Given the description of an element on the screen output the (x, y) to click on. 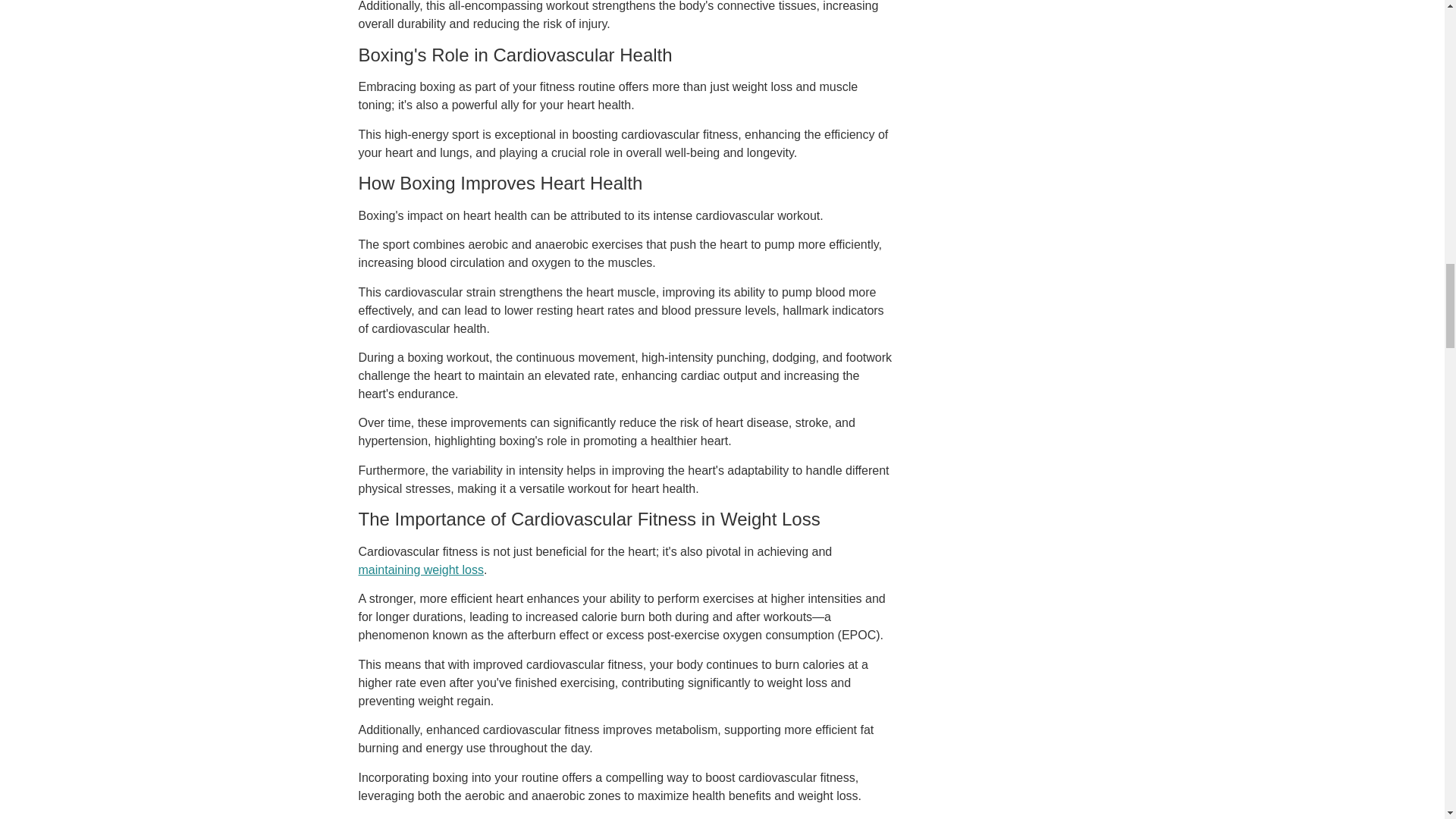
maintaining weight loss (420, 569)
